Given the description of an element on the screen output the (x, y) to click on. 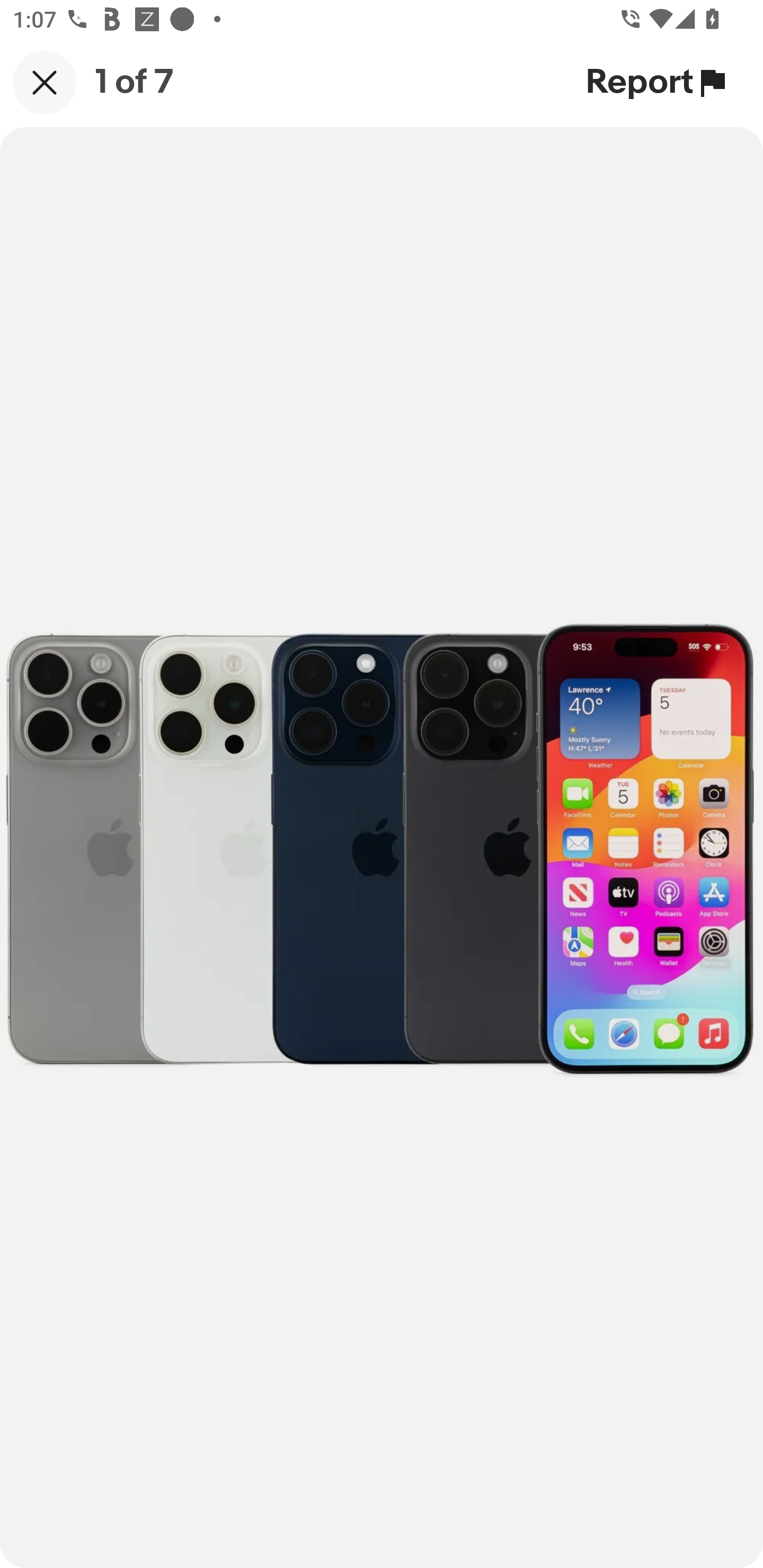
Close (44, 82)
Report Report this item (658, 82)
